Given the description of an element on the screen output the (x, y) to click on. 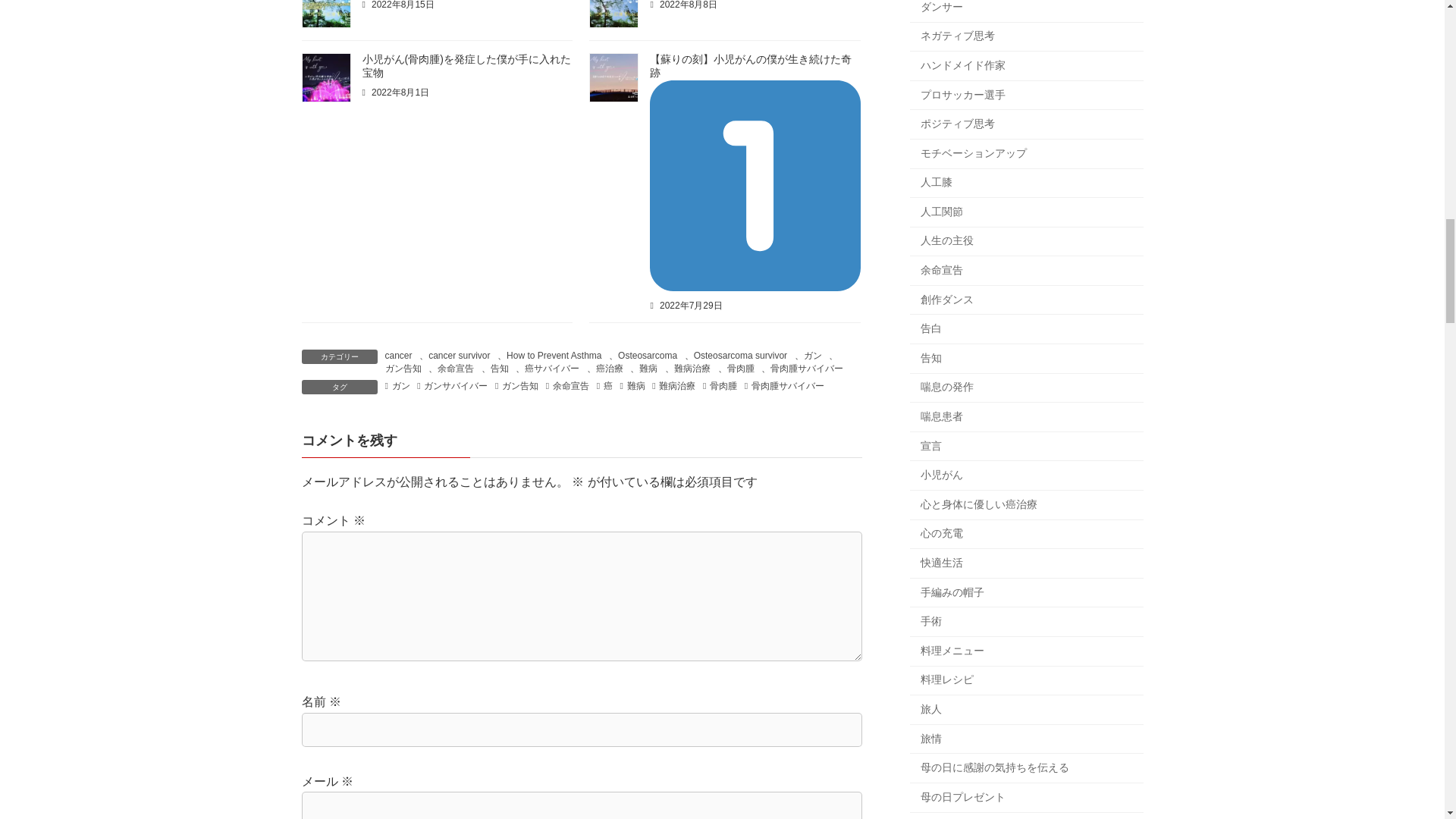
cancer survivor (458, 355)
cancer (398, 355)
